Given the description of an element on the screen output the (x, y) to click on. 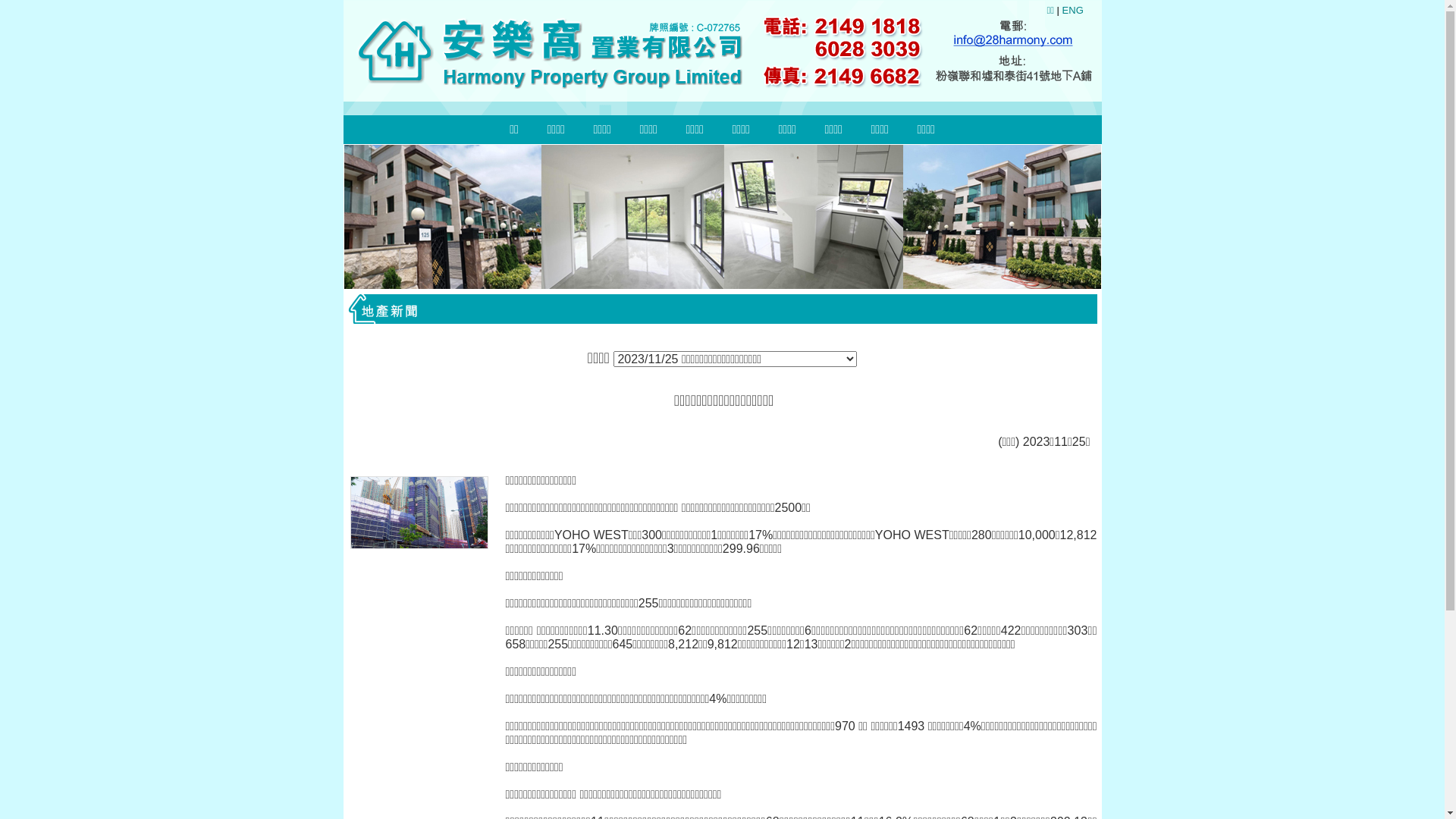
ENG Element type: text (1072, 9)
